Given the description of an element on the screen output the (x, y) to click on. 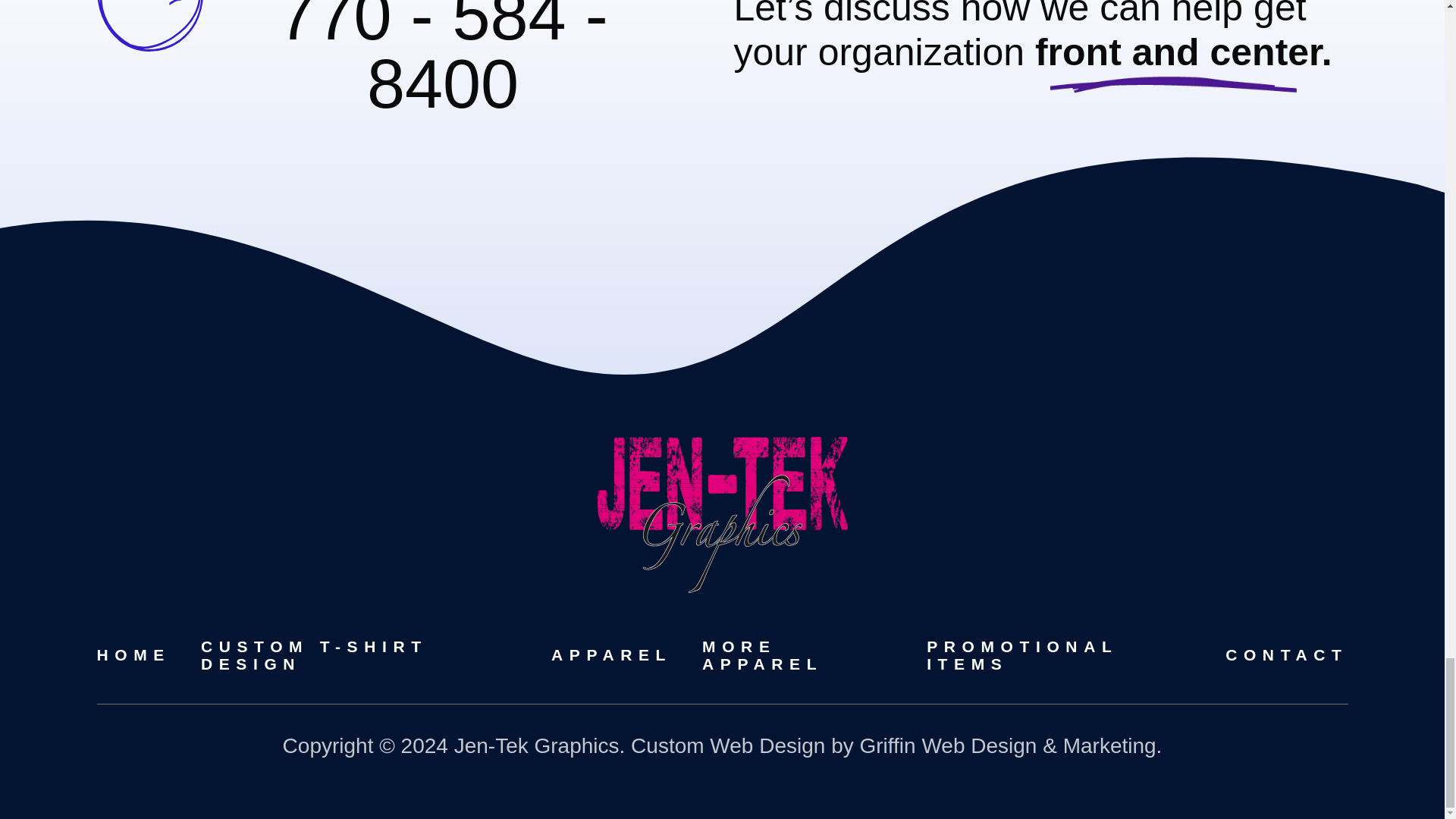
PROMOTIONAL ITEMS (1022, 655)
CUSTOM T-SHIRT DESIGN (314, 655)
MORE APPAREL (761, 655)
770 - 584 - 8400 (442, 61)
APPAREL (611, 654)
CONTACT (1286, 654)
HOME (133, 654)
